Given the description of an element on the screen output the (x, y) to click on. 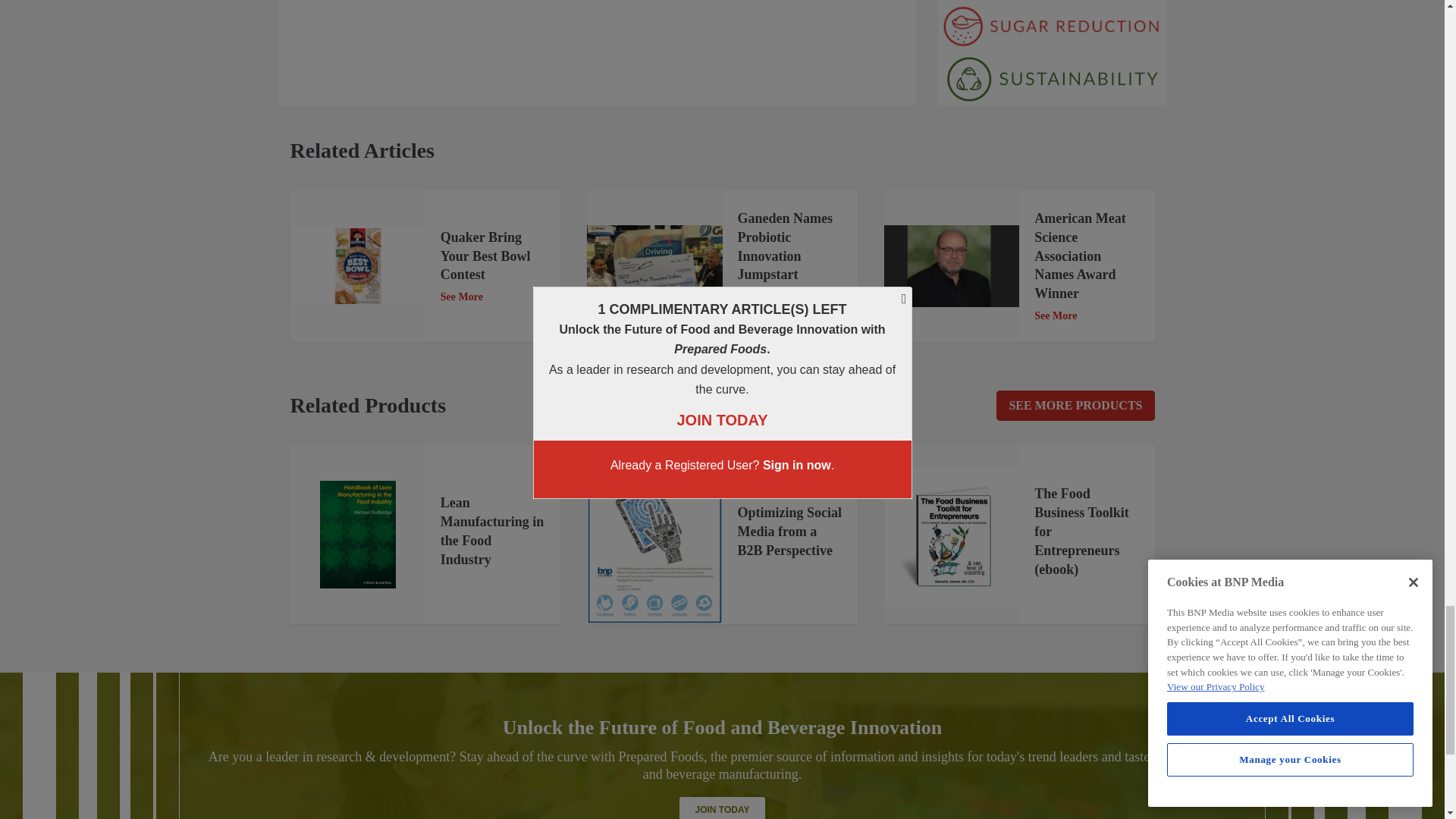
The-Food-Business-ToolKit-V2019-1.pdf (951, 533)
